Given the description of an element on the screen output the (x, y) to click on. 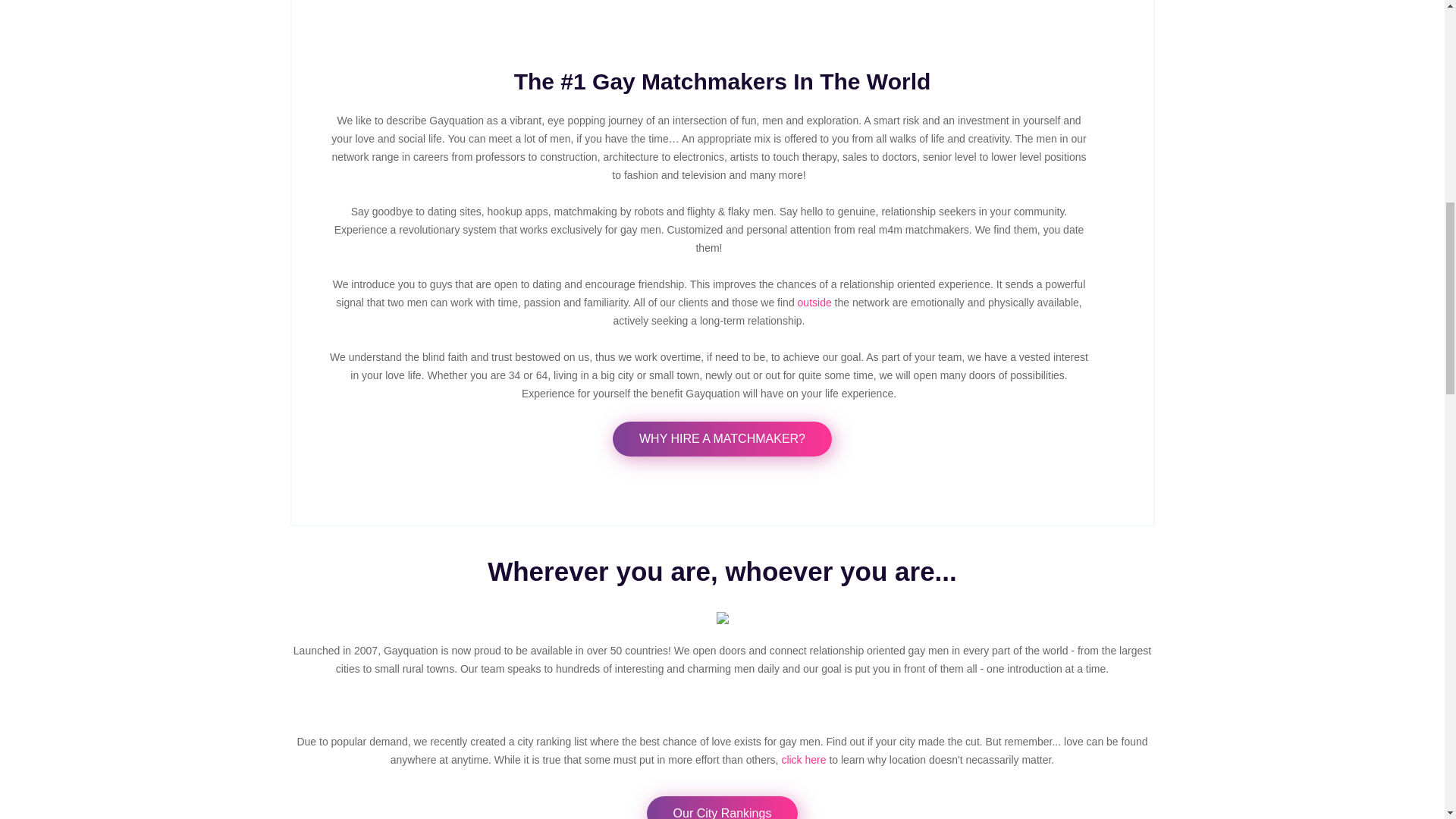
click here (802, 759)
WHY HIRE A MATCHMAKER? (721, 438)
outside (814, 302)
Our City Rankings (721, 807)
